Given the description of an element on the screen output the (x, y) to click on. 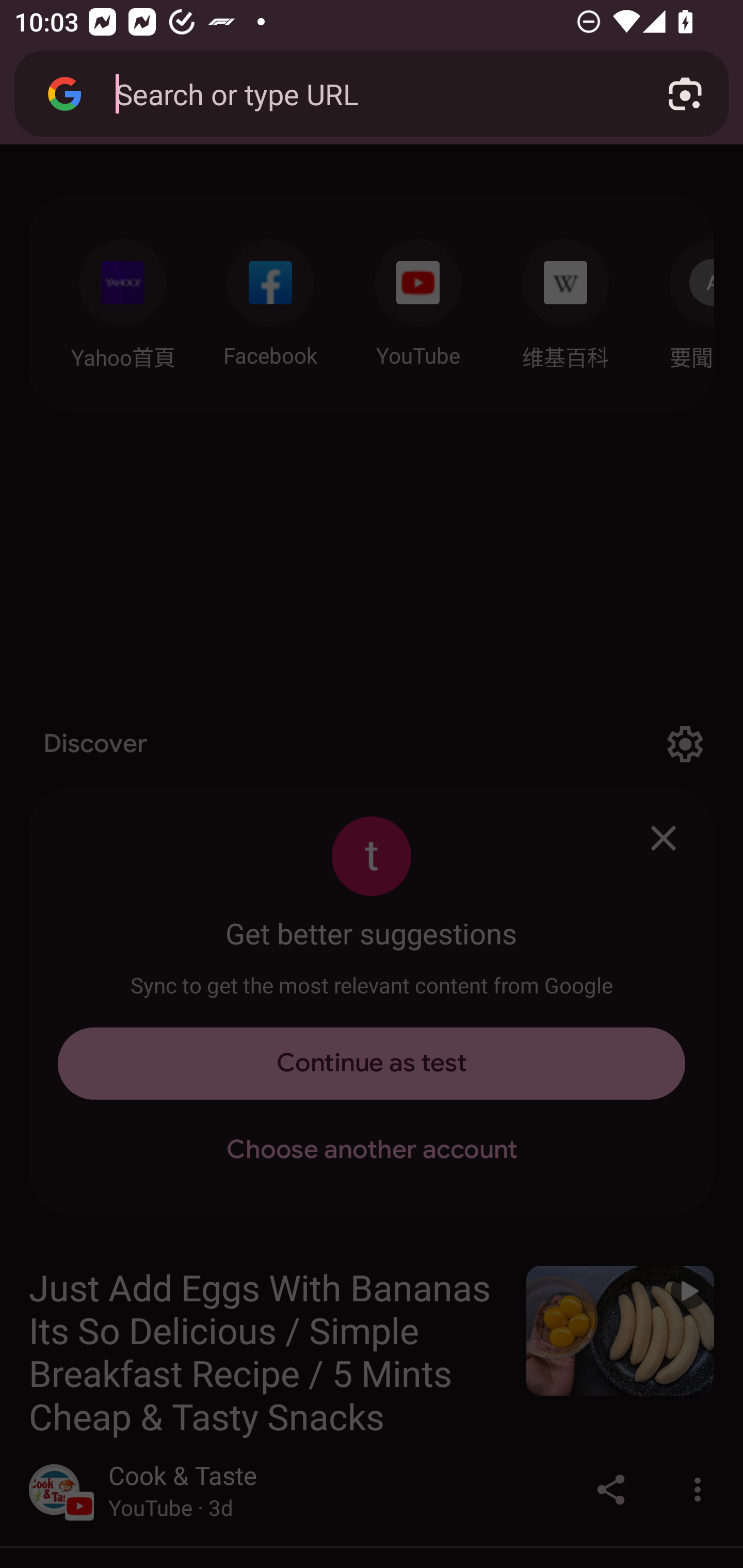
Search with your camera using Google Lens (684, 93)
Search or type URL (367, 92)
Navigate: Yahoo首頁: hk.mobi.yahoo.com Yahoo首頁 (122, 299)
Navigate: Facebook: m.facebook.com Facebook (270, 297)
Navigate: YouTube: m.youtube.com YouTube (417, 297)
Navigate: 维基百科: zh.m.wikipedia.org 维基百科 (565, 299)
Options for Discover (684, 743)
Close (663, 837)
Continue as test (371, 1063)
Choose another account (371, 1150)
